Given the description of an element on the screen output the (x, y) to click on. 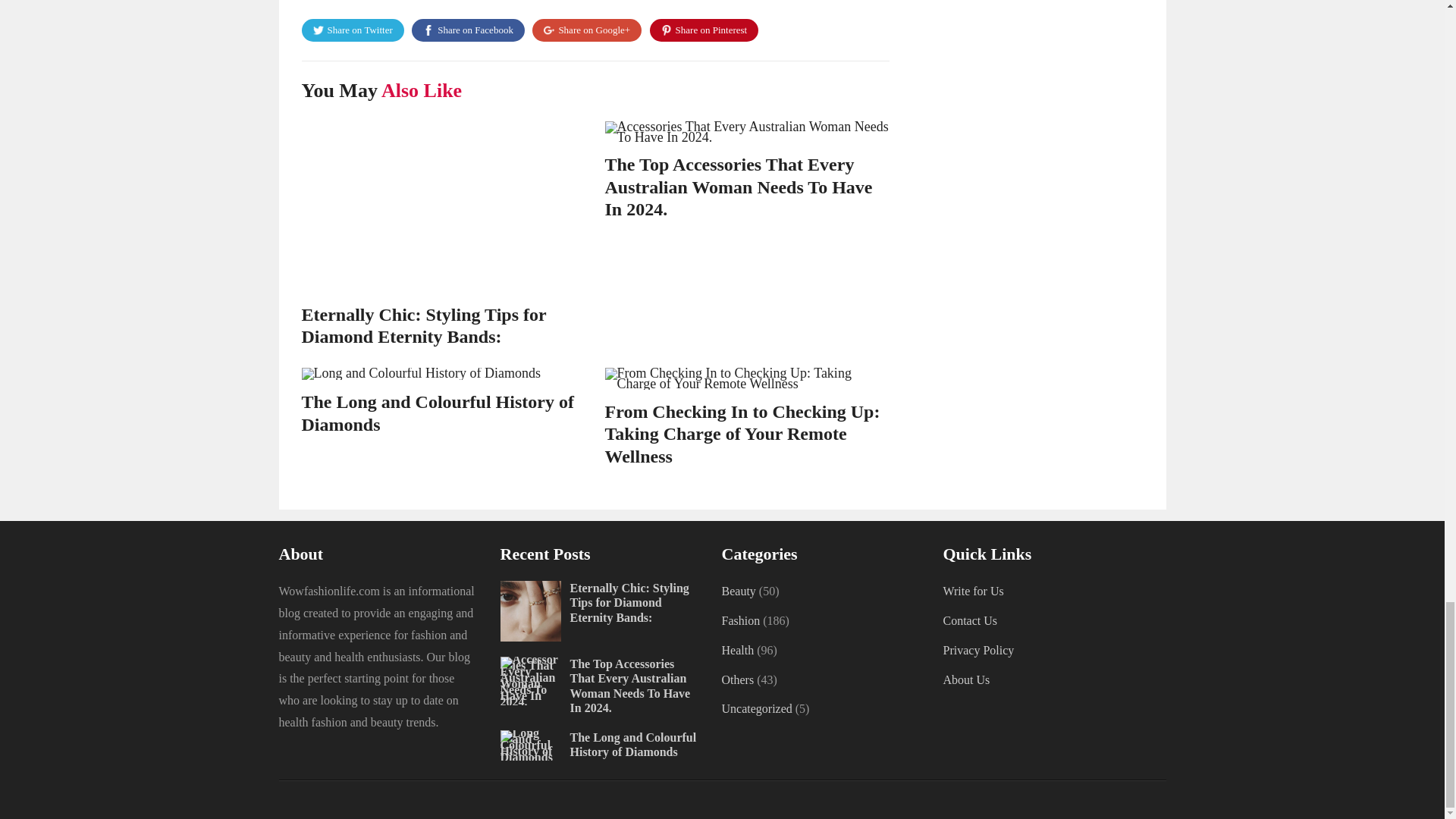
Eternally Chic: Styling Tips for Diamond Eternity Bands: (424, 325)
Share on Facebook (468, 29)
Share on Twitter (352, 29)
Share on Pinterest (703, 29)
The Long and Colourful History of Diamonds (437, 413)
